Given the description of an element on the screen output the (x, y) to click on. 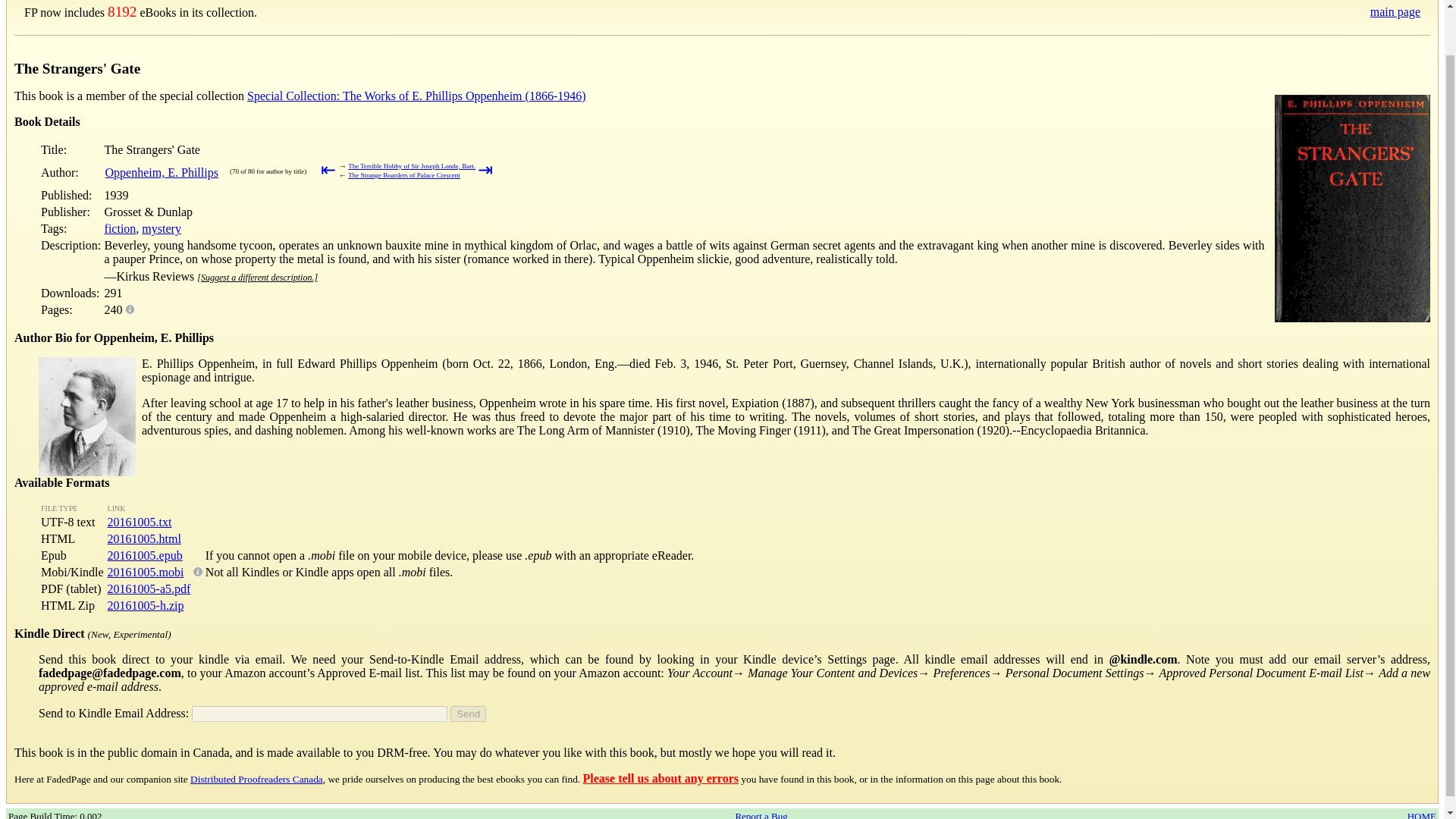
The Strange Boarders of Palace Crescent (403, 175)
main page (1395, 11)
mystery (160, 228)
Send (467, 713)
Send (467, 713)
20161005-a5.pdf (148, 588)
fiction (120, 228)
The Terrible Hobby of Sir Joseph Londe, Bart. (411, 165)
Oppenheim, E. Phillips (161, 172)
20161005.html (143, 538)
